Given the description of an element on the screen output the (x, y) to click on. 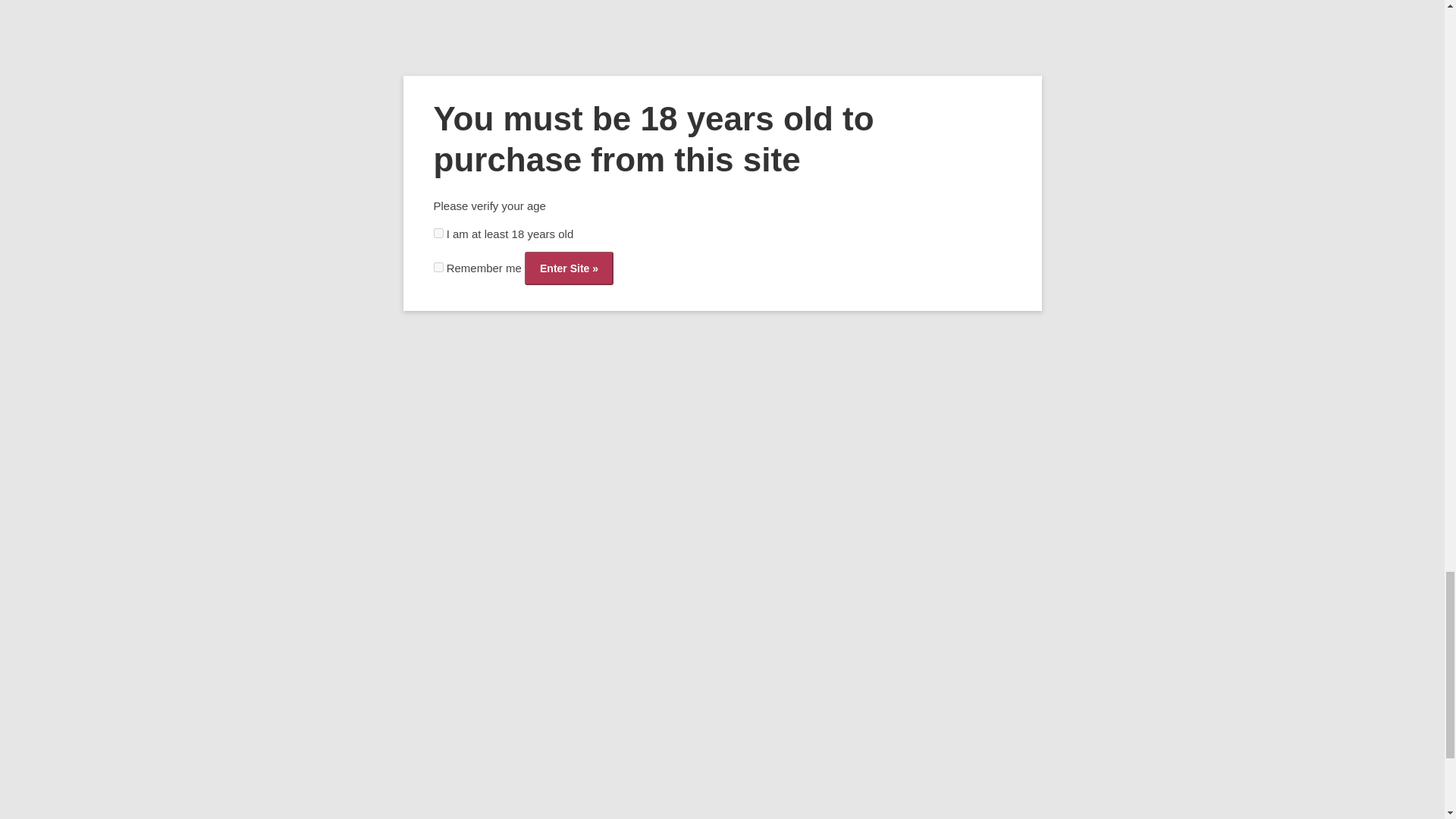
Sign up (299, 731)
